Given the description of an element on the screen output the (x, y) to click on. 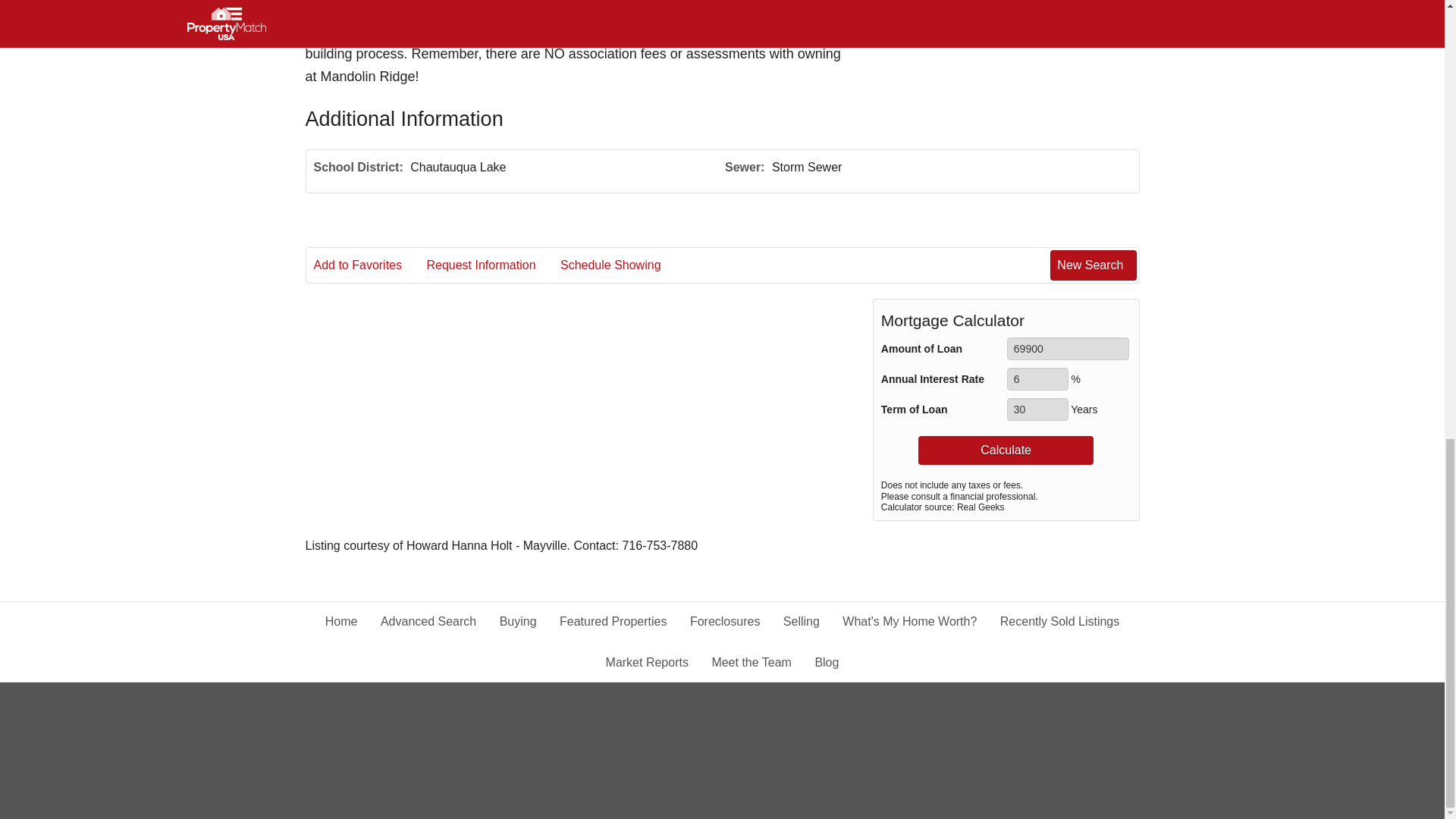
30 (1037, 409)
69900 (1068, 348)
6 (1037, 378)
